Given the description of an element on the screen output the (x, y) to click on. 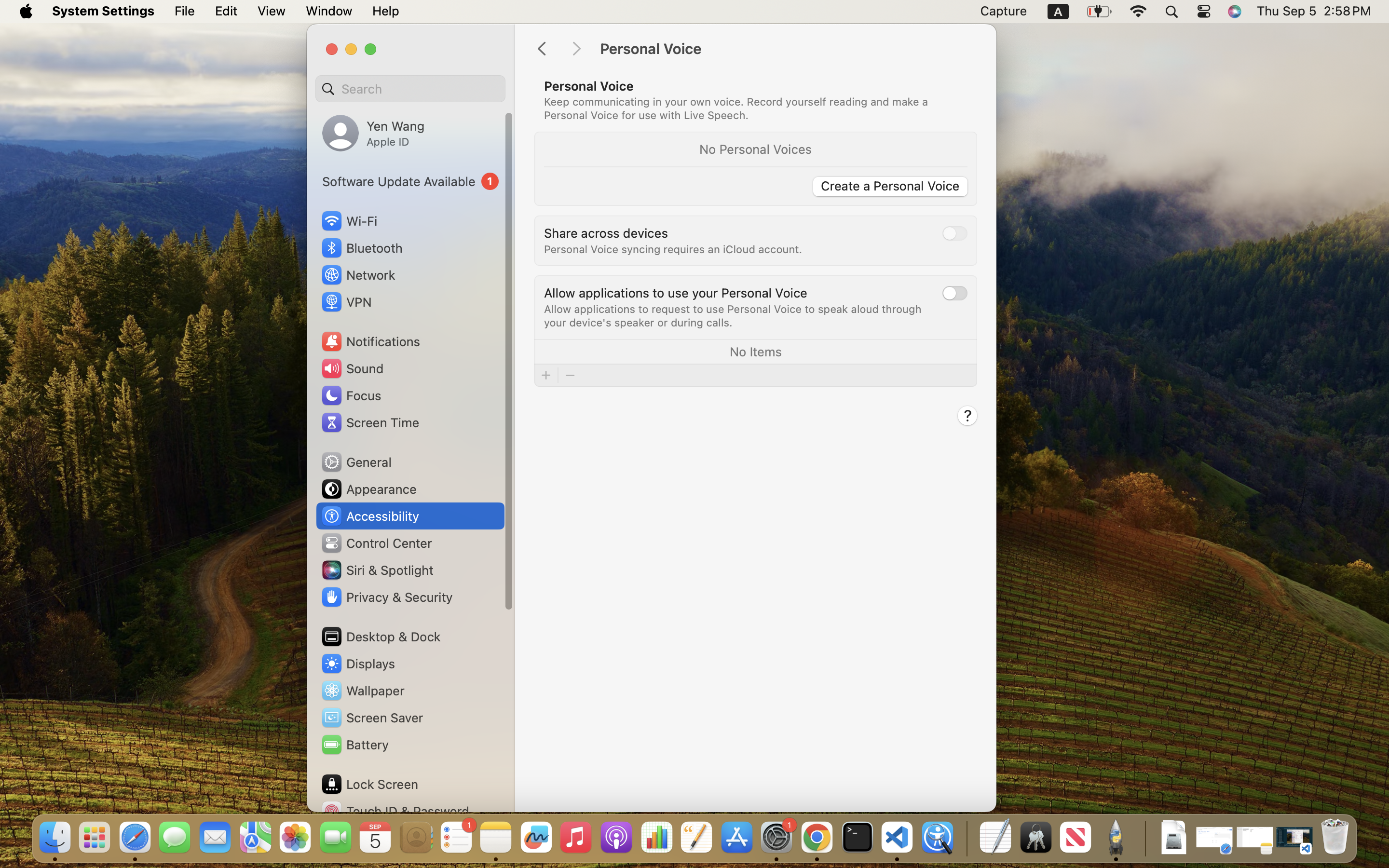
Control Center Element type: AXStaticText (376, 542)
Wi‑Fi Element type: AXStaticText (348, 220)
